Given the description of an element on the screen output the (x, y) to click on. 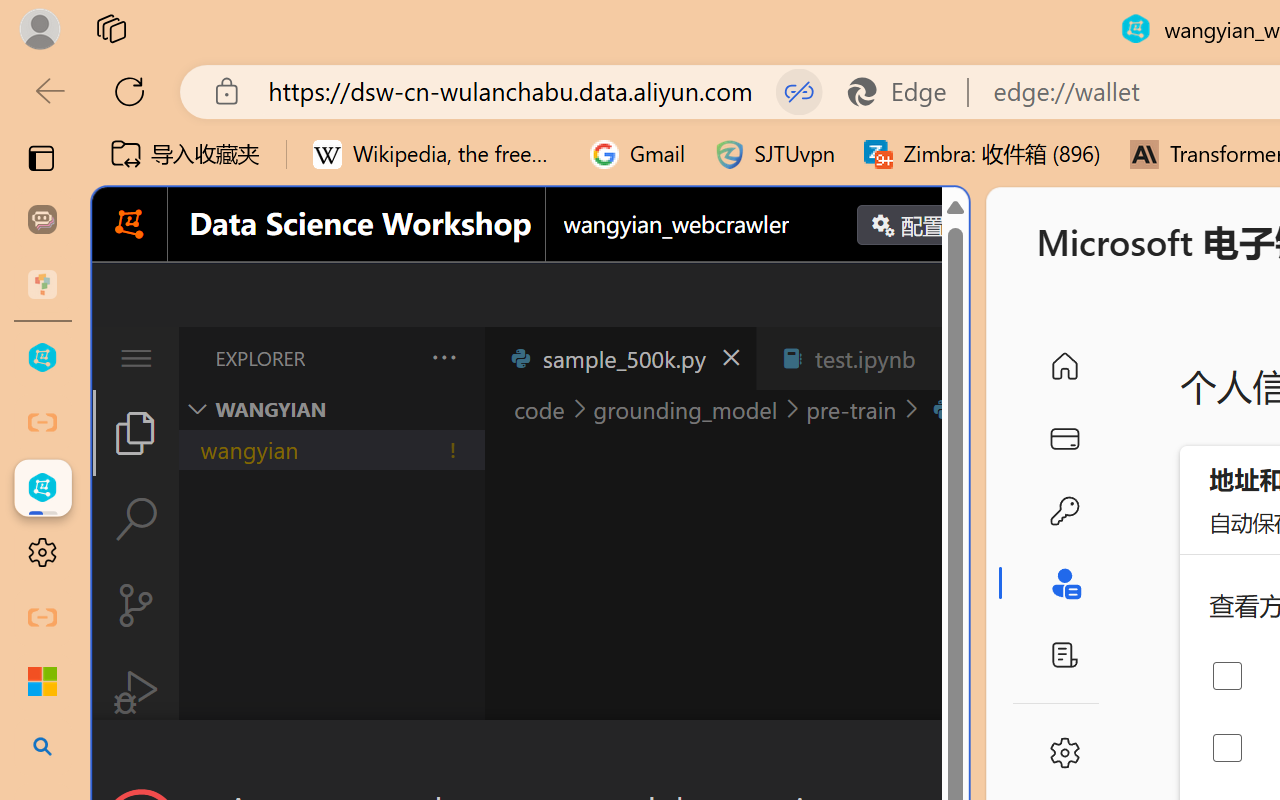
Close (Ctrl+F4) (946, 358)
Microsoft security help and learning (42, 681)
wangyian_webcrawler - DSW (42, 487)
Wikipedia, the free encyclopedia (437, 154)
Application Menu (135, 358)
wangyian_dsw - DSW (42, 357)
sample_500k.py (619, 358)
Gmail (637, 154)
Source Control (Ctrl+Shift+G) (135, 604)
